Given the description of an element on the screen output the (x, y) to click on. 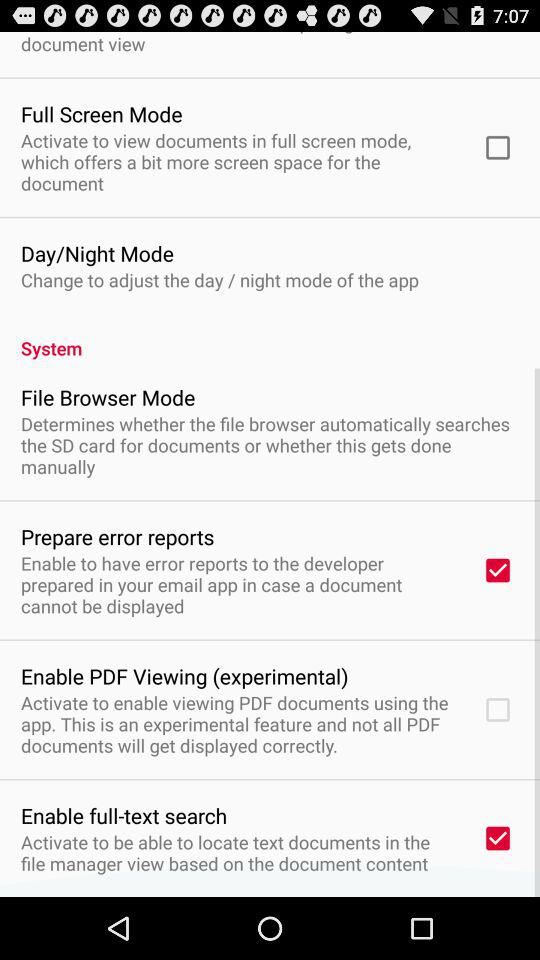
jump until system app (270, 337)
